Given the description of an element on the screen output the (x, y) to click on. 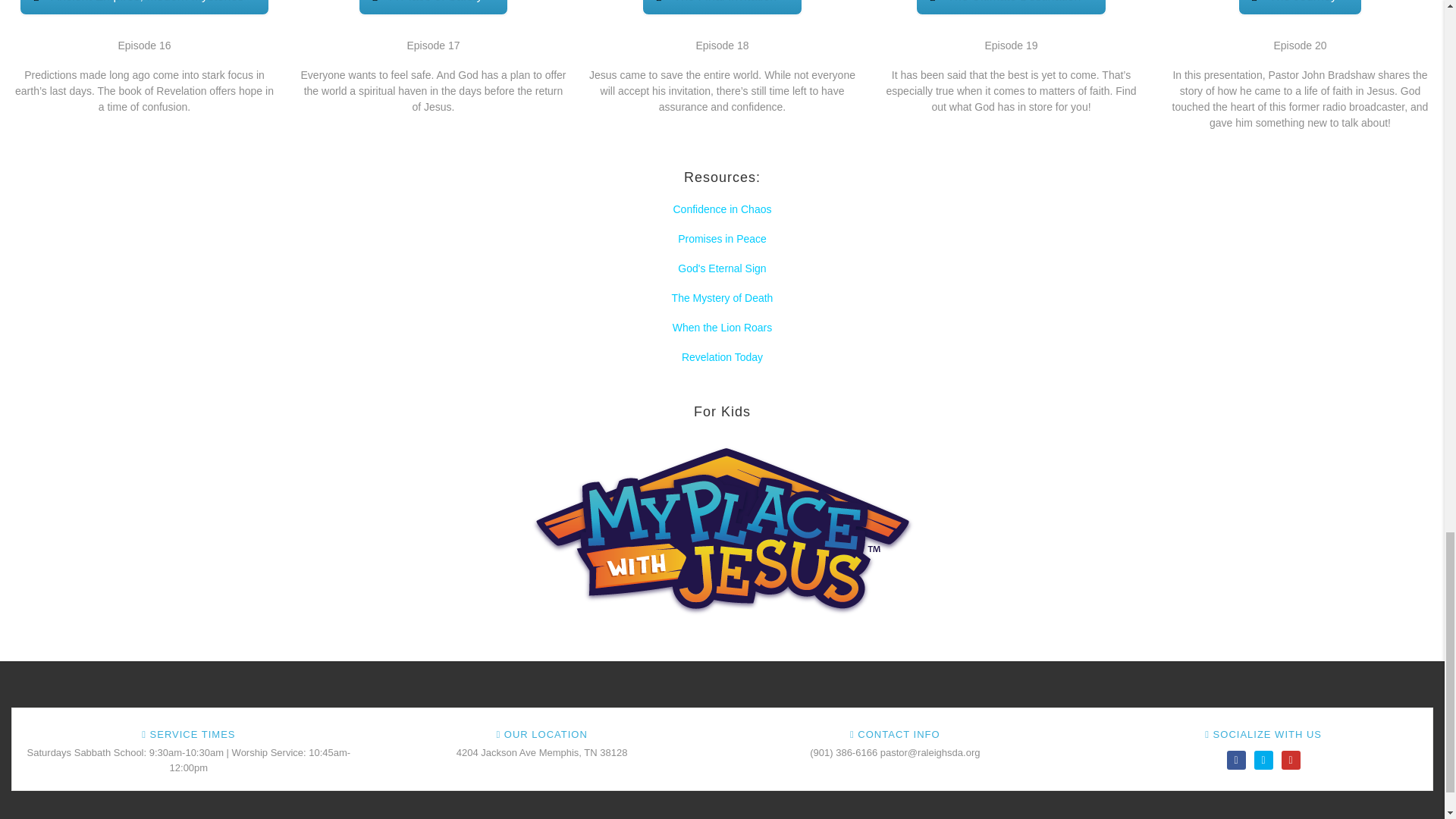
For Kids (721, 529)
